Given the description of an element on the screen output the (x, y) to click on. 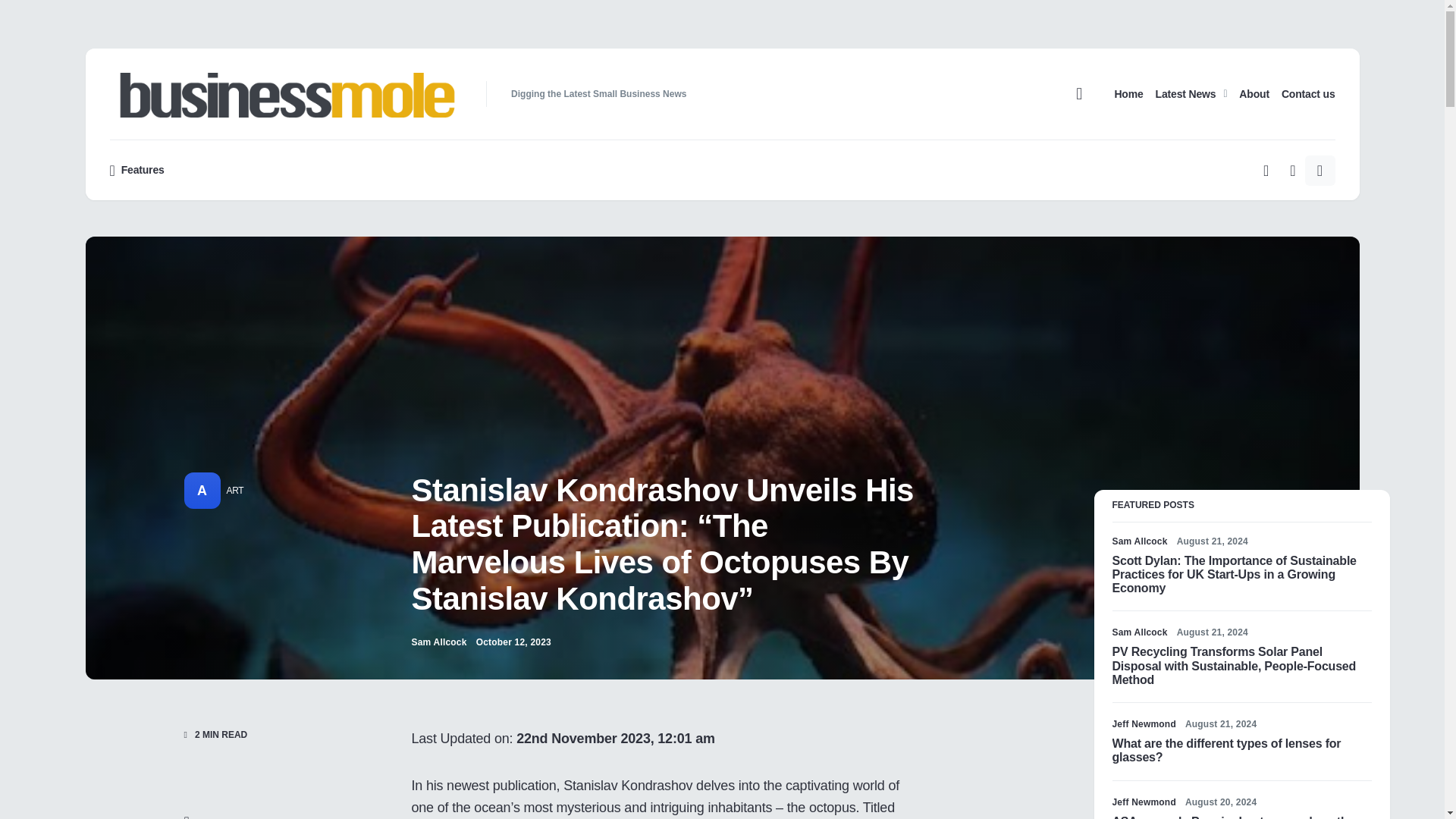
View all posts by Sam Allcock (1139, 540)
View all posts by Jeff Newmond (1143, 724)
View all posts by Sam Allcock (1139, 632)
View all posts by Jeff Newmond (1143, 802)
View all posts by Sam Allcock (437, 642)
Latest News (1191, 93)
